Given the description of an element on the screen output the (x, y) to click on. 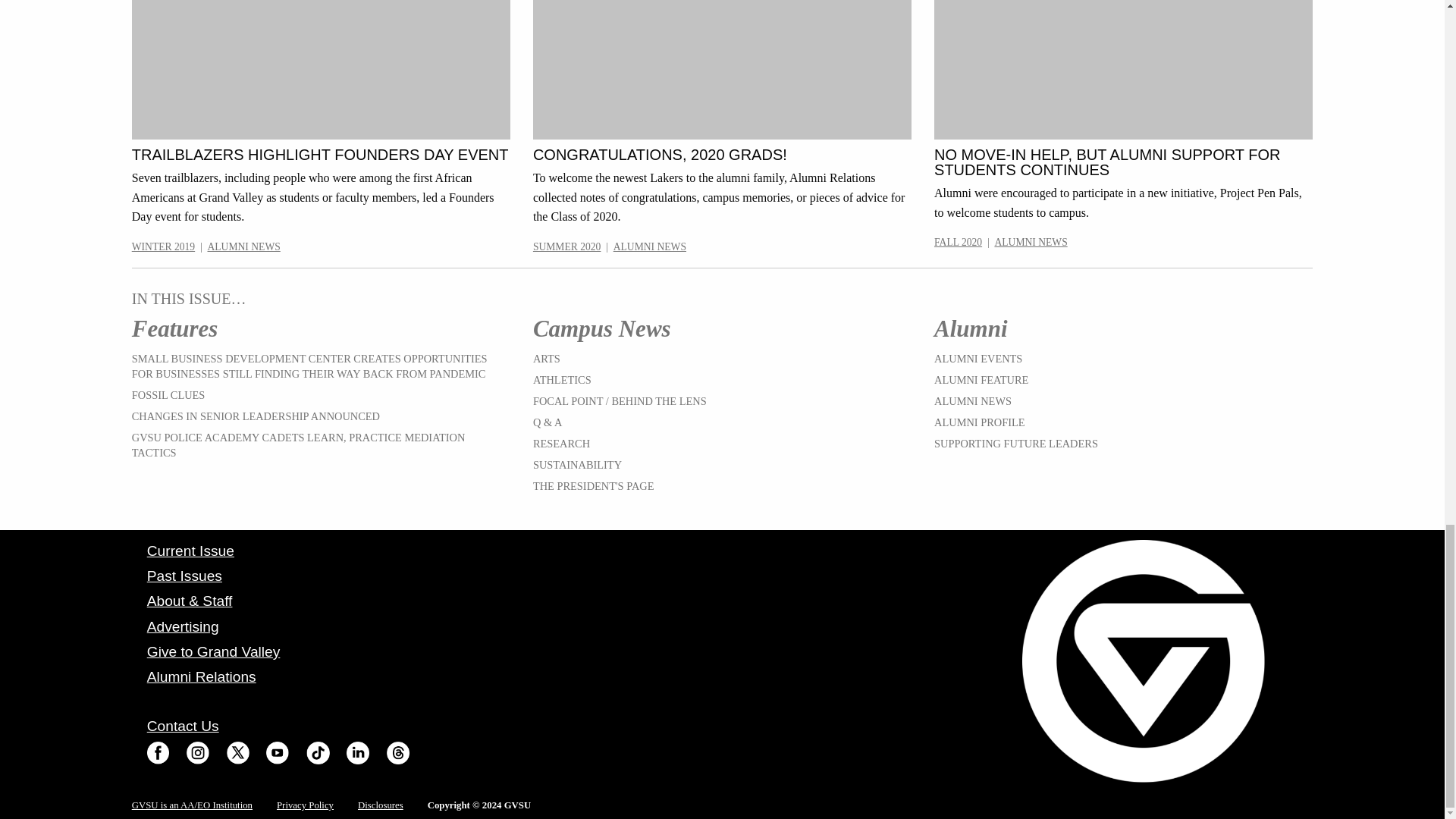
SUMMER 2020 (566, 246)
FALL 2020 (957, 242)
NO MOVE-IN HELP, BUT ALUMNI SUPPORT FOR STUDENTS CONTINUES (1106, 162)
ALUMNI NEWS (244, 246)
ALUMNI NEWS (648, 246)
ALUMNI NEWS (1030, 242)
FOSSIL CLUES (168, 395)
WINTER 2019 (163, 246)
TRAILBLAZERS HIGHLIGHT FOUNDERS DAY EVENT (320, 154)
